Given the description of an element on the screen output the (x, y) to click on. 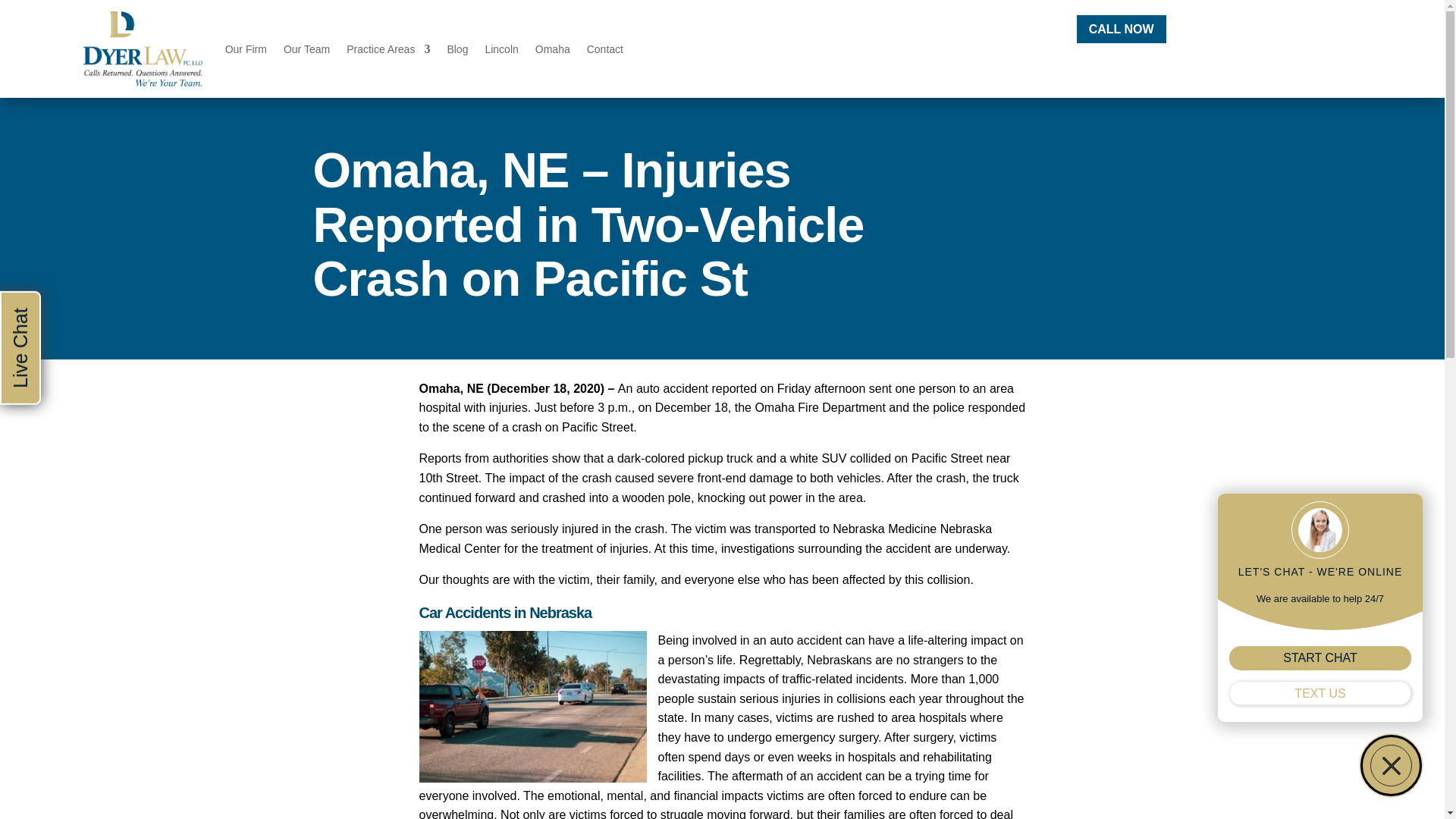
Practice Areas (387, 48)
